Given the description of an element on the screen output the (x, y) to click on. 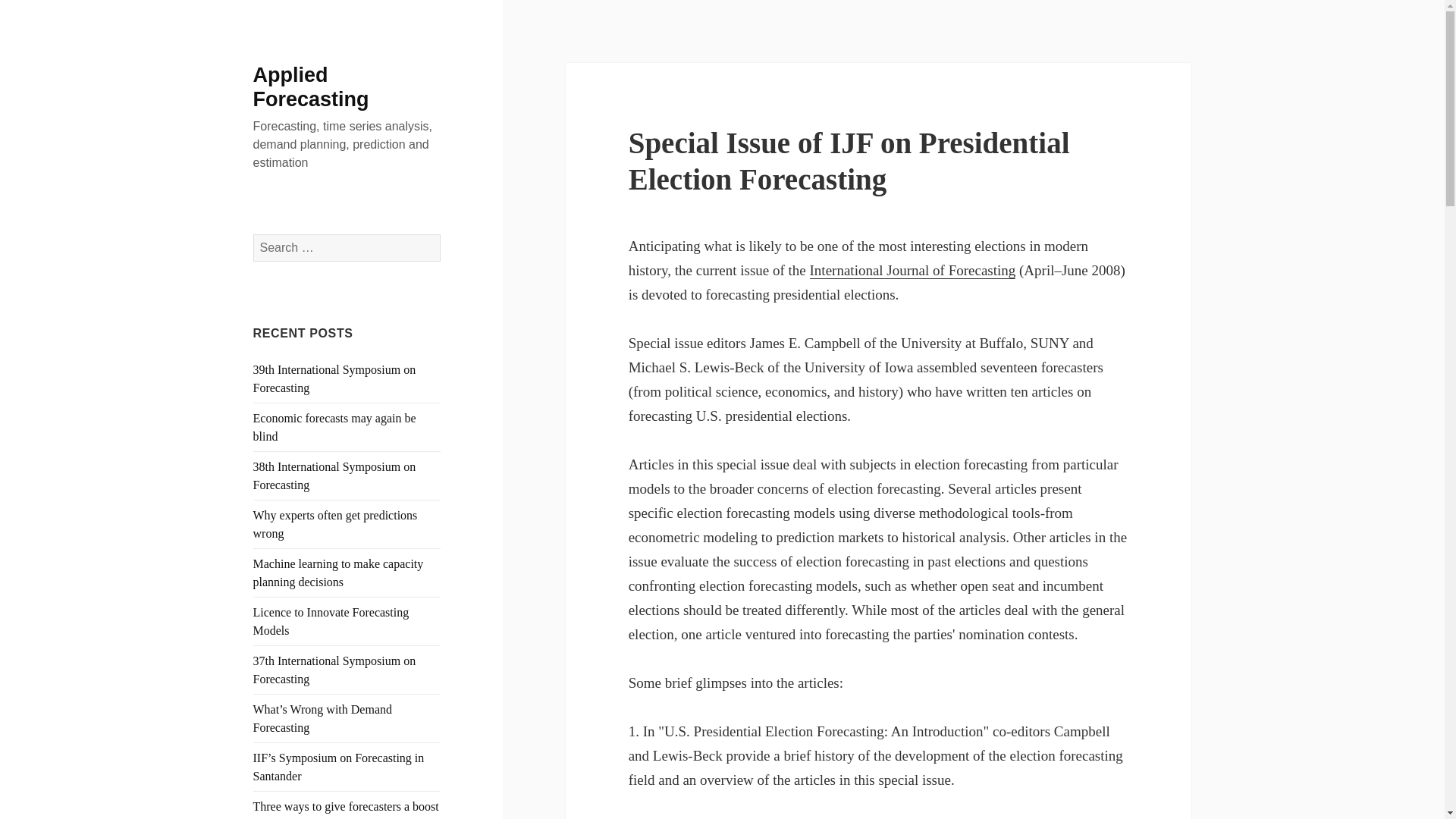
Applied Forecasting (311, 86)
Why experts often get predictions wrong (335, 523)
37th International Symposium on Forecasting (334, 669)
39th International Symposium on Forecasting (334, 378)
International Journal of Forecasting (912, 270)
Machine learning to make capacity planning decisions (338, 572)
Economic forecasts may again be blind (334, 427)
Licence to Innovate Forecasting Models (331, 621)
Three ways to give forecasters a boost (346, 806)
38th International Symposium on Forecasting (334, 475)
